Given the description of an element on the screen output the (x, y) to click on. 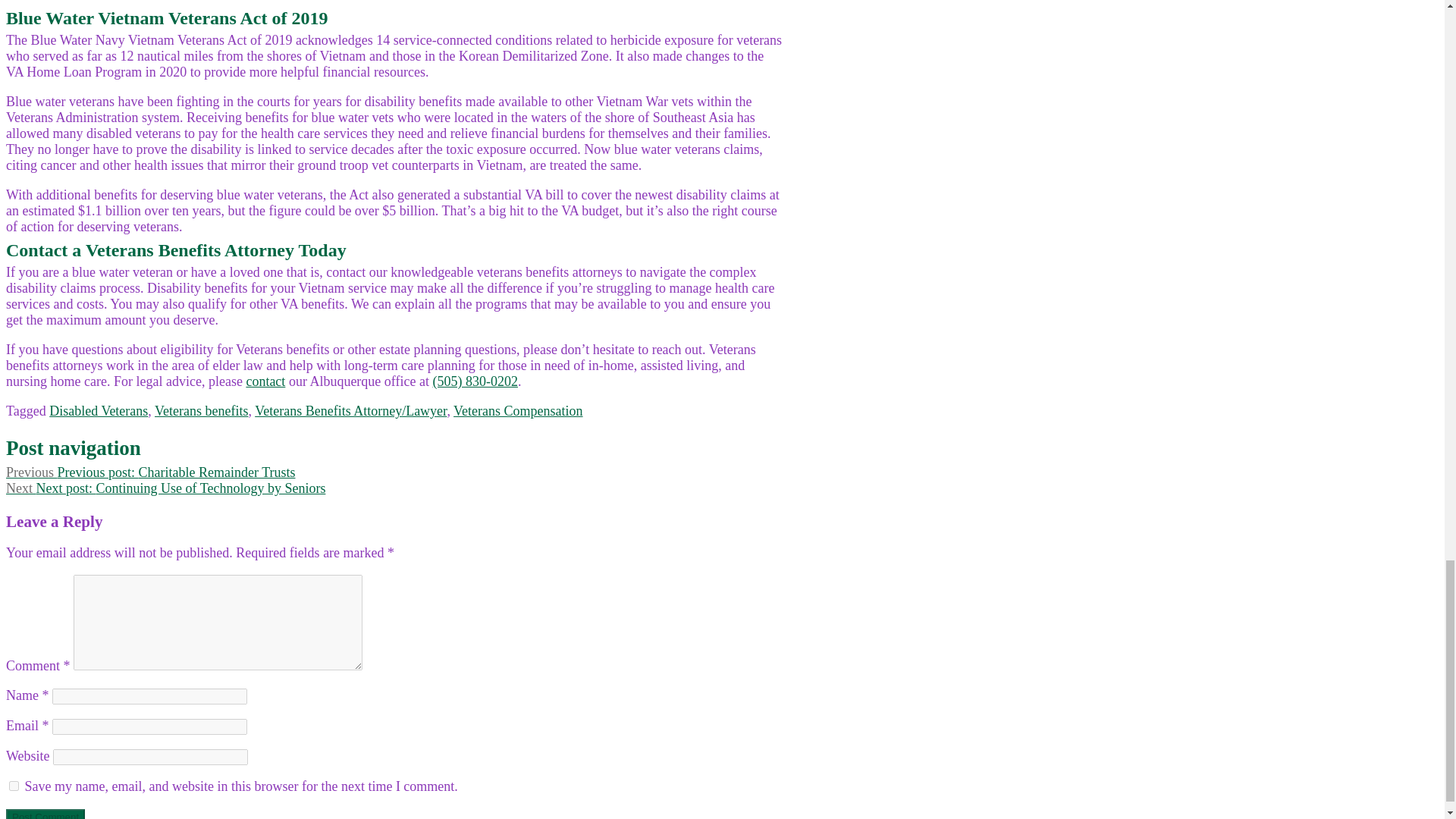
Previous Previous post: Charitable Remainder Trusts (150, 472)
contact (265, 381)
Disabled Veterans (98, 410)
Veterans benefits (200, 410)
yes (13, 786)
Next Next post: Continuing Use of Technology by Seniors (164, 488)
Veterans Compensation (517, 410)
